Given the description of an element on the screen output the (x, y) to click on. 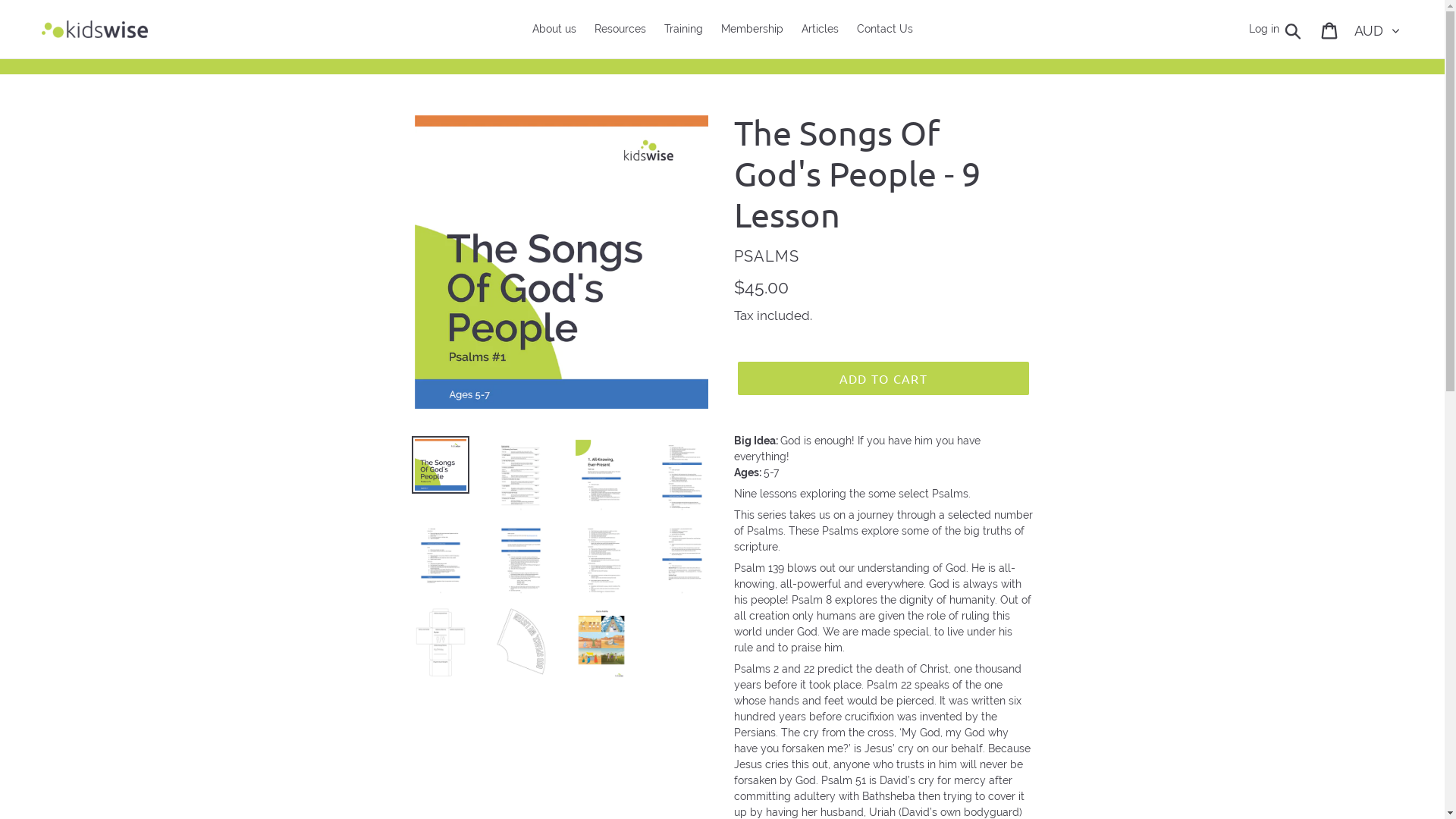
Cart Element type: text (1330, 29)
ADD TO CART Element type: text (883, 378)
Submit Element type: text (1293, 28)
Log in Element type: text (1263, 29)
Articles Element type: text (819, 28)
Membership Element type: text (751, 28)
Resources Element type: text (619, 28)
Contact Us Element type: text (884, 28)
About us Element type: text (553, 28)
Training Element type: text (683, 28)
